Given the description of an element on the screen output the (x, y) to click on. 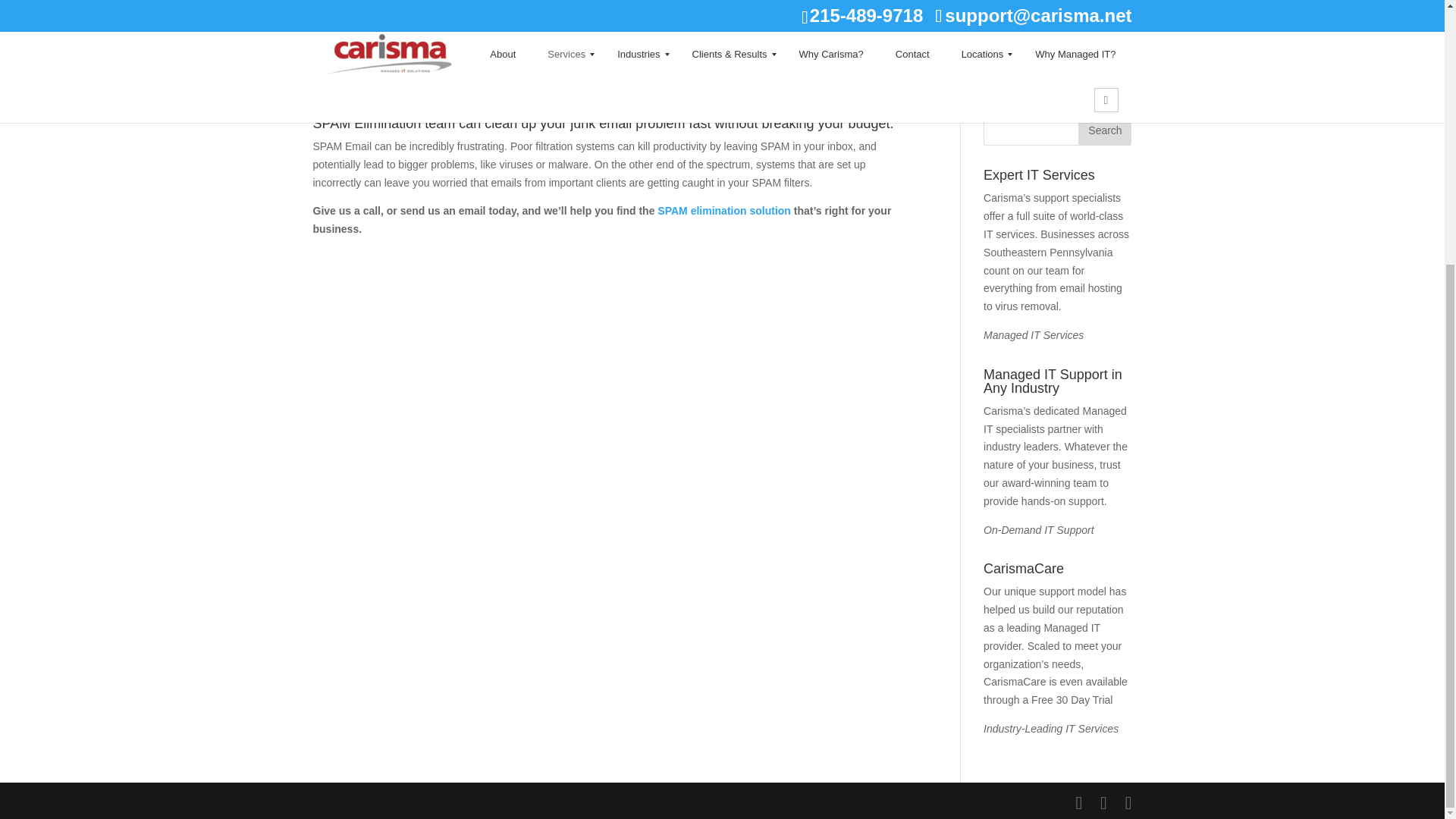
SPAM Elimination Services (614, 47)
Search (1104, 130)
Managed IT Support for Any Budget (1051, 728)
IT Support for Companies in Any Industry (1039, 530)
SPAM (724, 210)
A Full Suite of Managed IT Support (1033, 335)
